Given the description of an element on the screen output the (x, y) to click on. 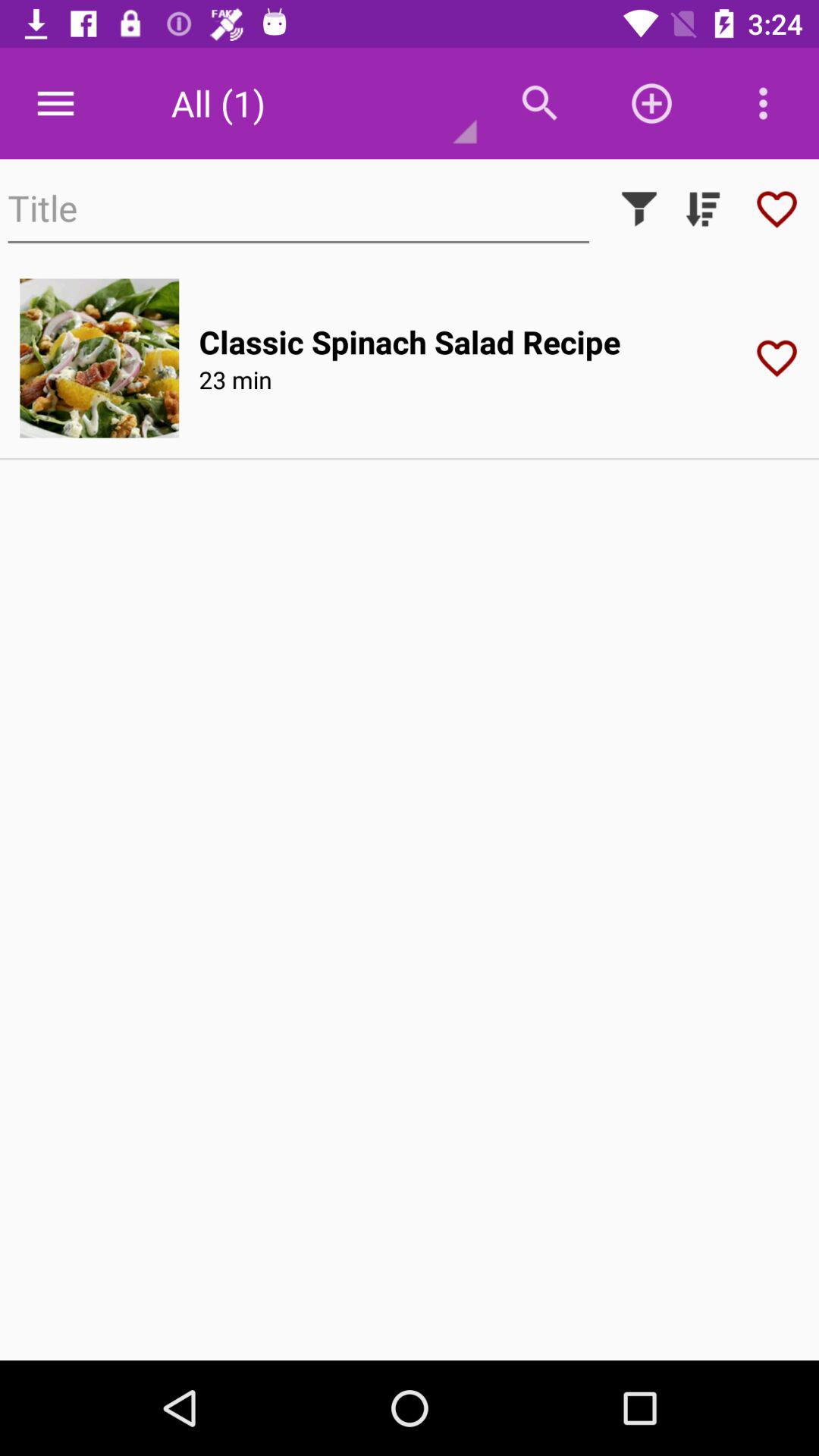
scroll to 23 min (235, 379)
